Given the description of an element on the screen output the (x, y) to click on. 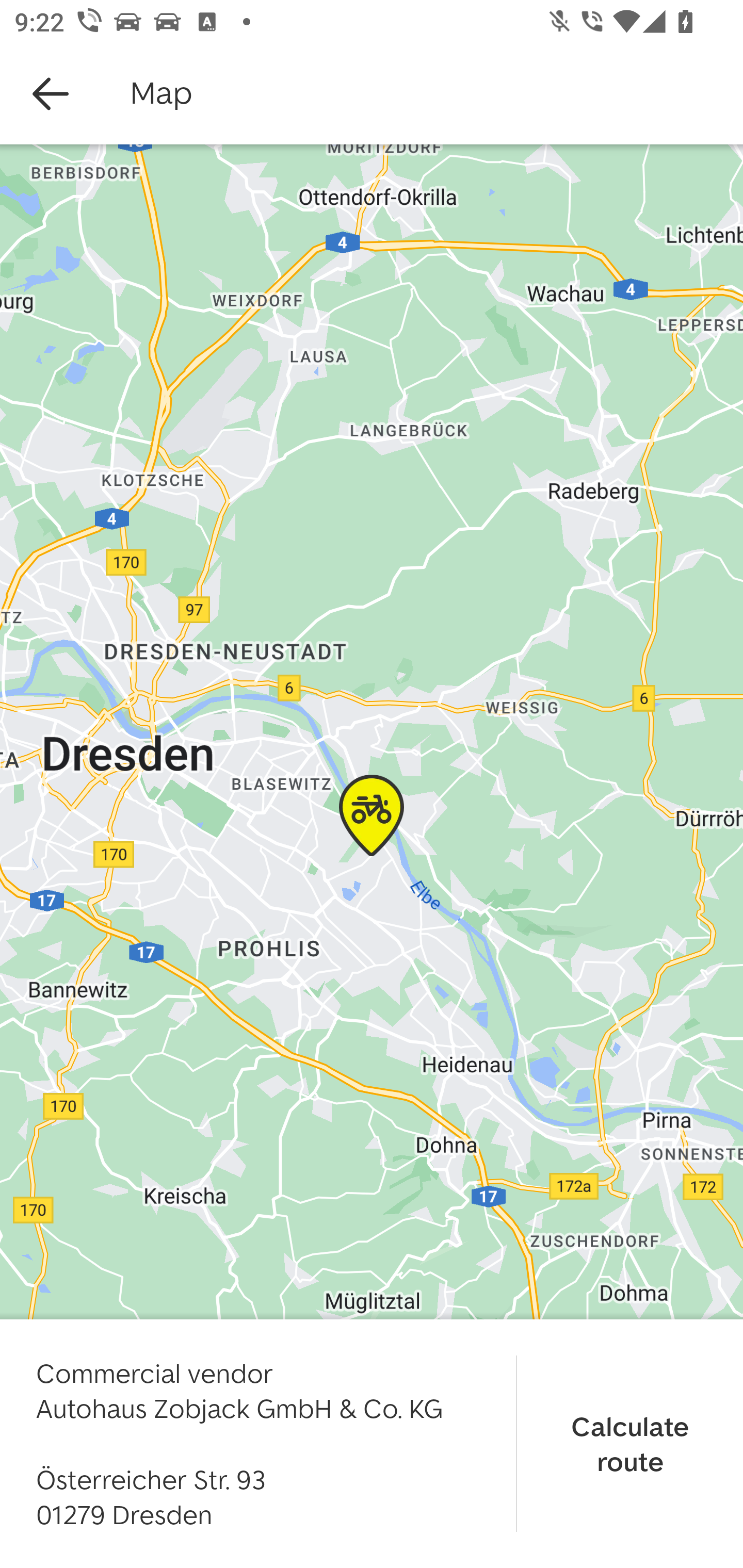
Navigate up (50, 93)
Calculate route (630, 1443)
